Given the description of an element on the screen output the (x, y) to click on. 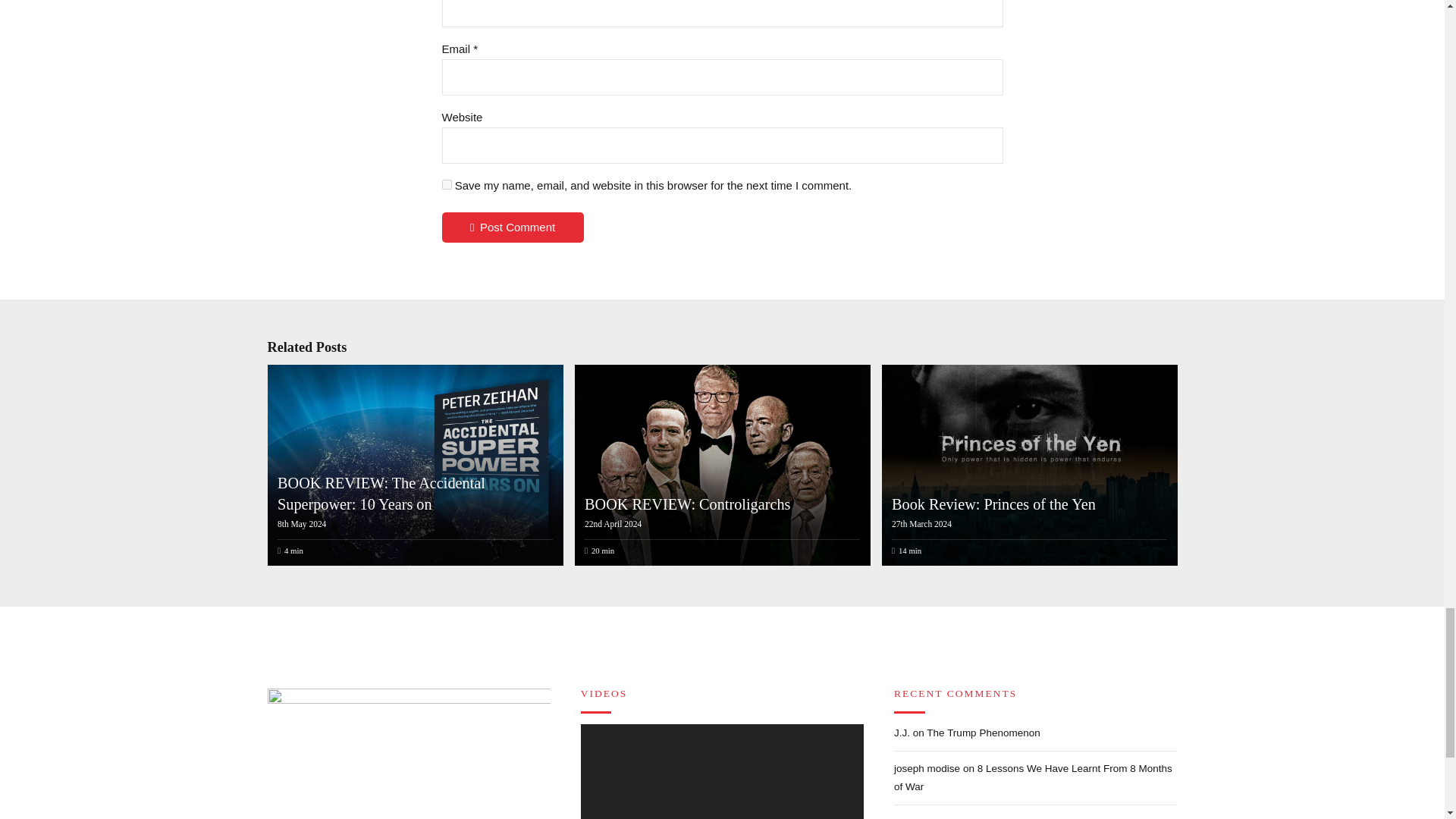
Book Review: Princes of the Yen (1026, 464)
BOOK REVIEW: The Accidental Superpower: 10 Years on (381, 493)
yes (446, 184)
Book Review: Princes of the Yen (993, 504)
BOOK REVIEW: Controligarchs (687, 504)
BOOK REVIEW: Controligarchs (719, 464)
BOOK REVIEW: The Accidental Superpower: 10 Years on (412, 464)
